Given the description of an element on the screen output the (x, y) to click on. 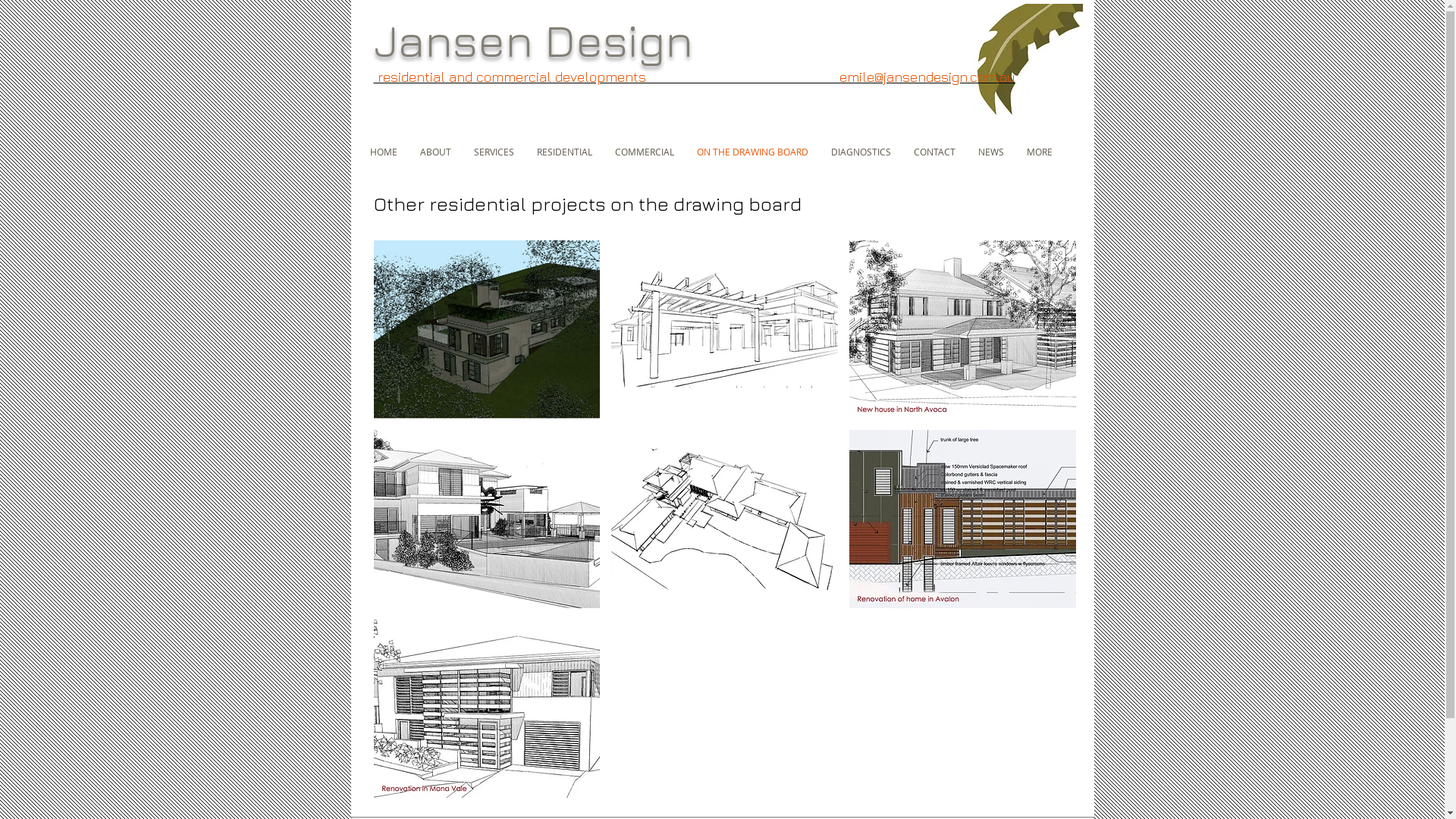
SERVICES Element type: text (493, 151)
RESIDENTIAL Element type: text (563, 151)
ABOUT Element type: text (434, 151)
DIAGNOSTICS Element type: text (860, 151)
ON THE DRAWING BOARD Element type: text (752, 151)
HOME Element type: text (382, 151)
CONTACT Element type: text (934, 151)
Jansen Design Element type: text (532, 39)
COMMERCIAL Element type: text (644, 151)
NEWS Element type: text (990, 151)
